Given the description of an element on the screen output the (x, y) to click on. 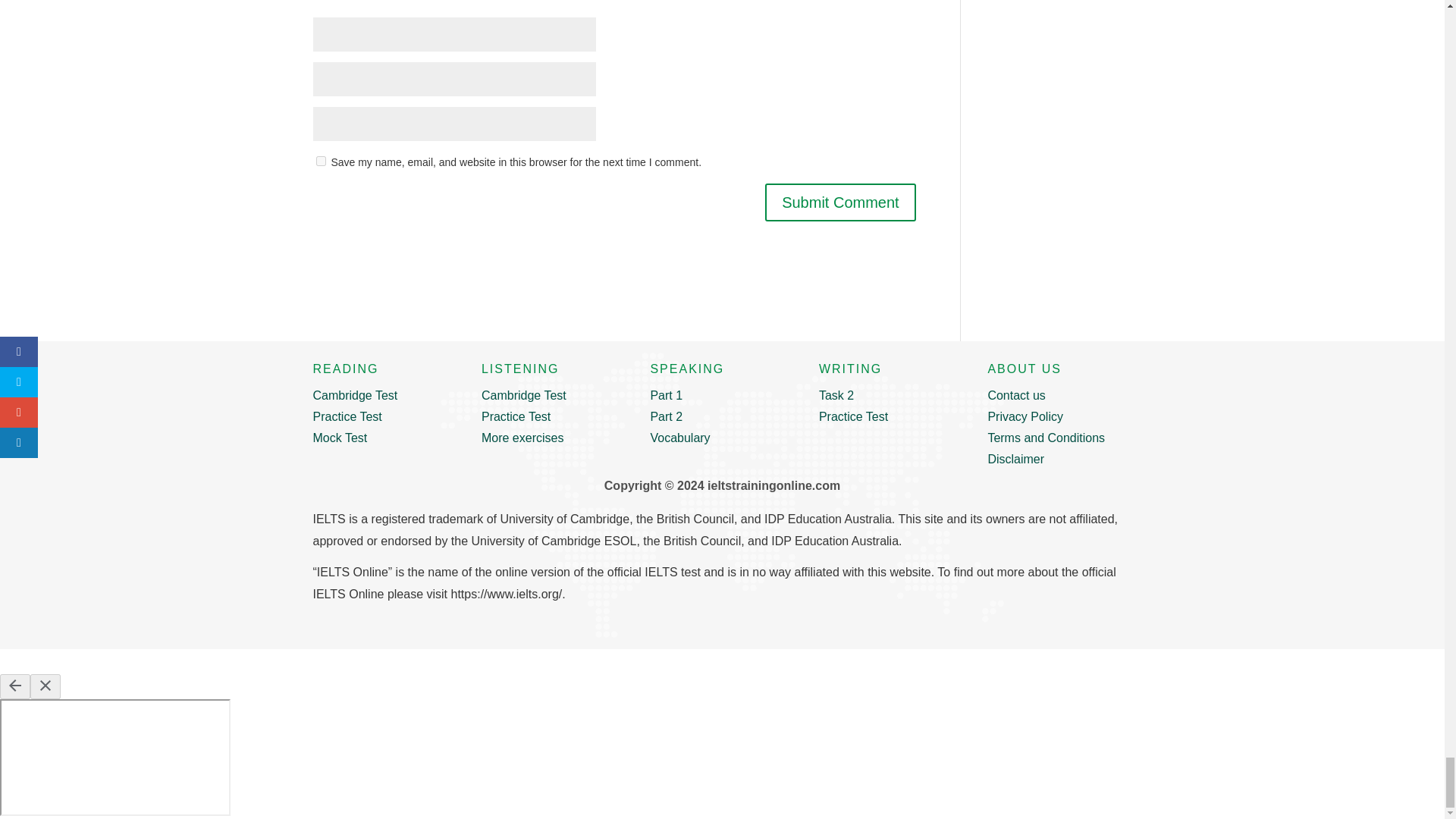
Submit Comment (840, 202)
Practice Test (347, 416)
Vocabulary (679, 437)
Cambridge Test (523, 395)
Practice Test (853, 416)
Practice Test (515, 416)
SPEAKING (686, 368)
yes (319, 161)
Part 1 (665, 395)
Cambridge Test (355, 395)
Mock Test (339, 437)
READING (345, 368)
Part 2 (665, 416)
More exercises (522, 437)
Contact us (1016, 395)
